Given the description of an element on the screen output the (x, y) to click on. 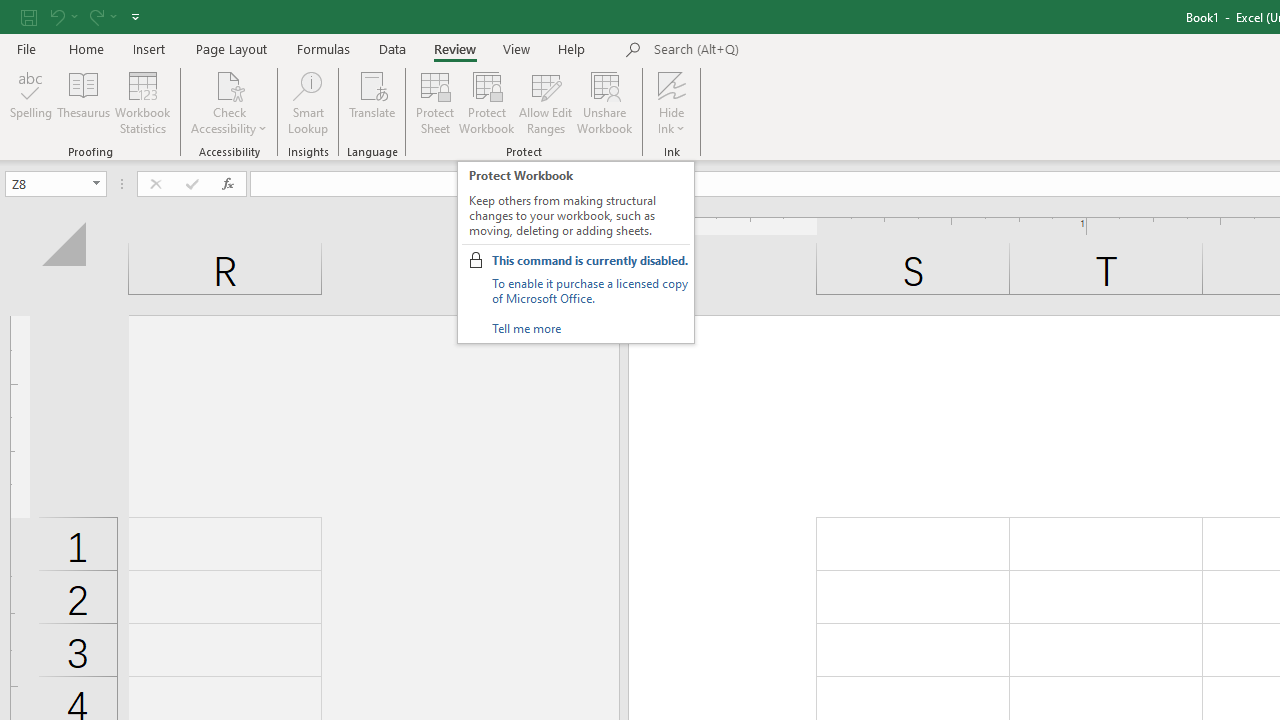
Translate (372, 102)
Spelling... (31, 102)
Workbook Statistics (142, 102)
Allow Edit Ranges (545, 102)
